Given the description of an element on the screen output the (x, y) to click on. 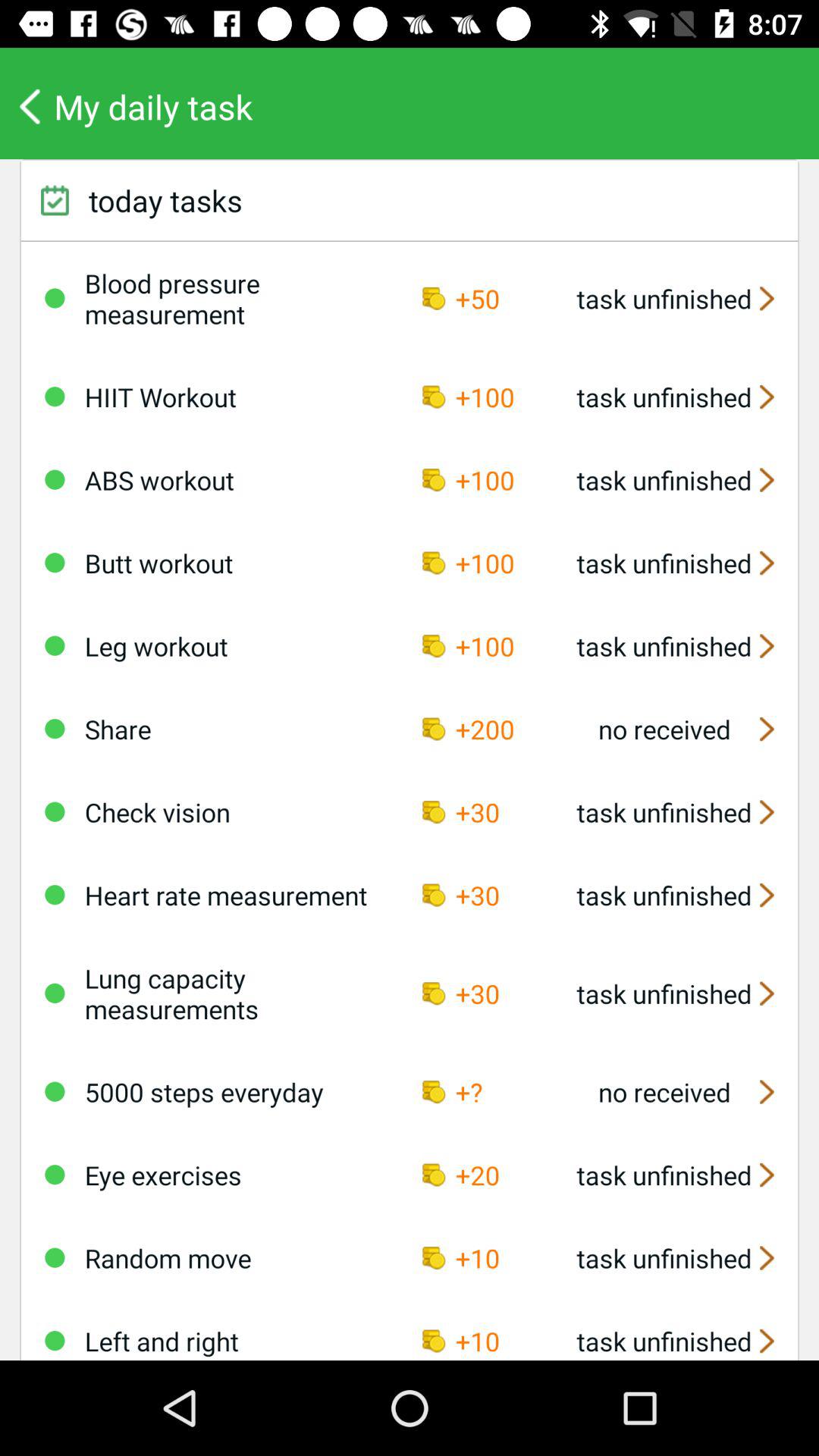
mark off task as complete (54, 811)
